Given the description of an element on the screen output the (x, y) to click on. 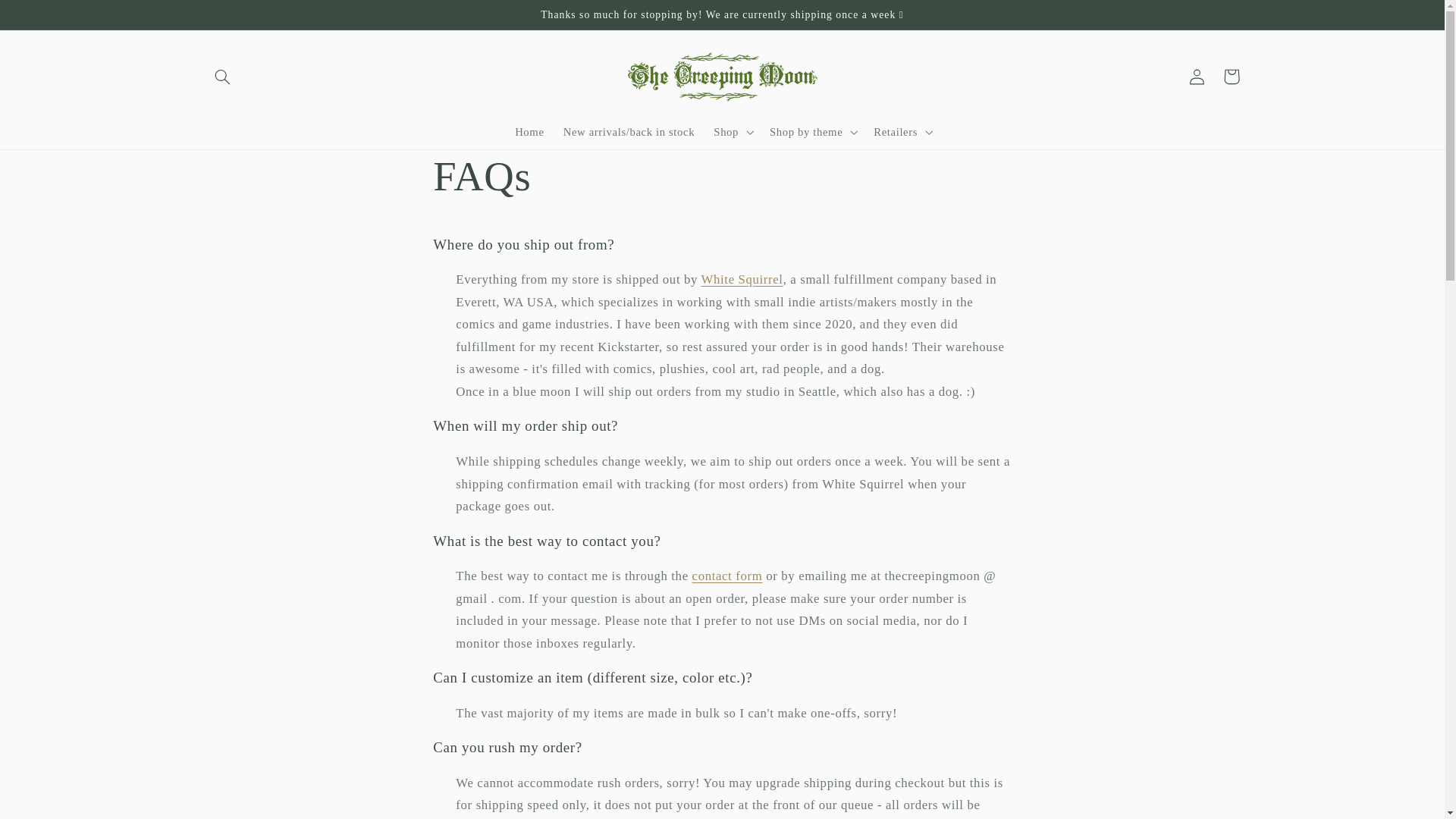
Skip to content (48, 18)
contact form (727, 575)
Home (529, 132)
